Given the description of an element on the screen output the (x, y) to click on. 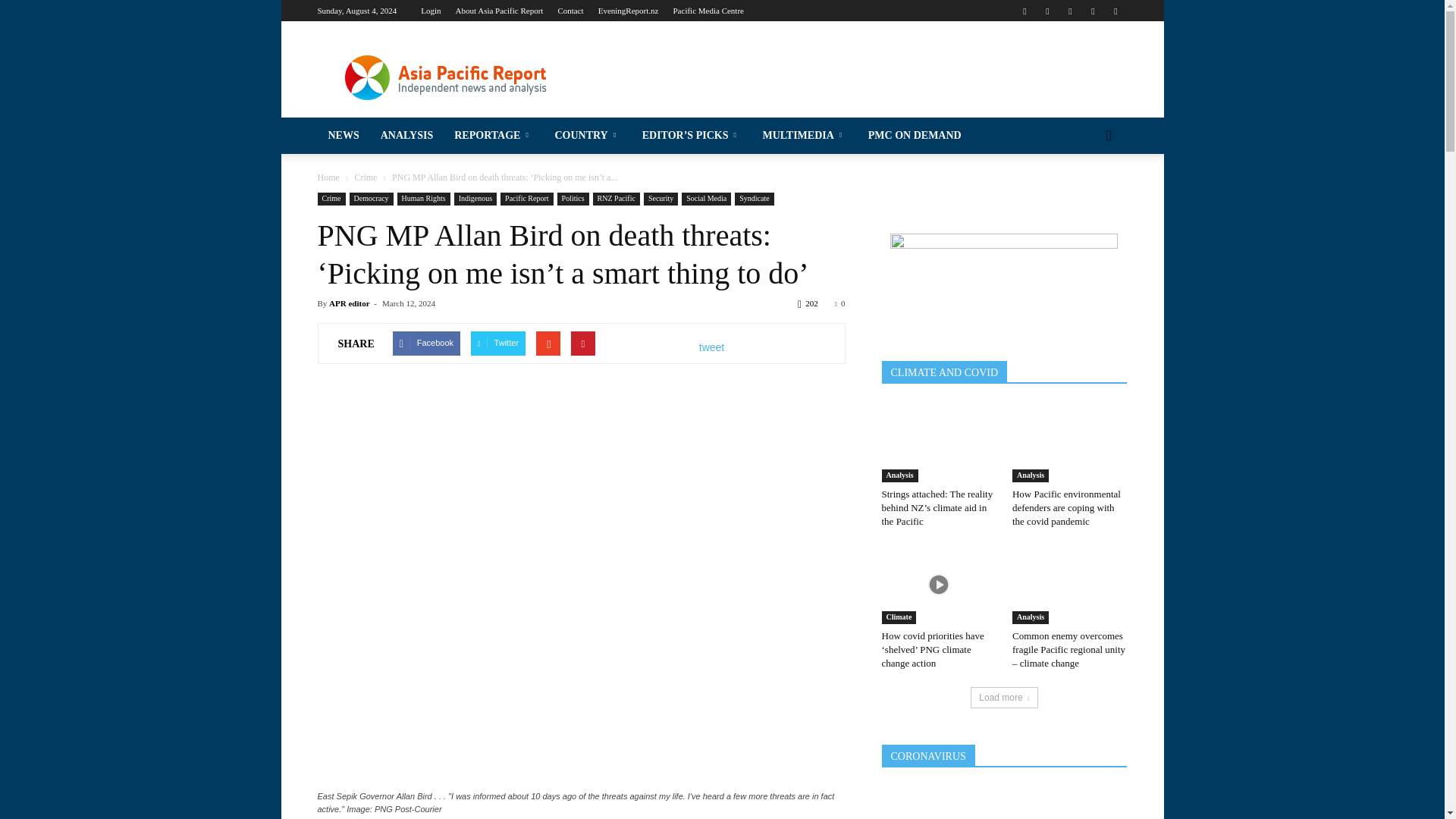
CLOSE (140, 20)
Timor-Leste (140, 796)
Tokelau (140, 815)
Facebook (1024, 10)
ANALYSIS (140, 91)
Cook Islands (140, 364)
Niue (140, 594)
Nauru (140, 508)
Pacific Report (140, 157)
Climate (140, 244)
Federated States of Micronesia (140, 393)
NEWS (140, 57)
Rapanui (140, 681)
Youtube (1114, 10)
Papua New Guinea (140, 652)
